Given the description of an element on the screen output the (x, y) to click on. 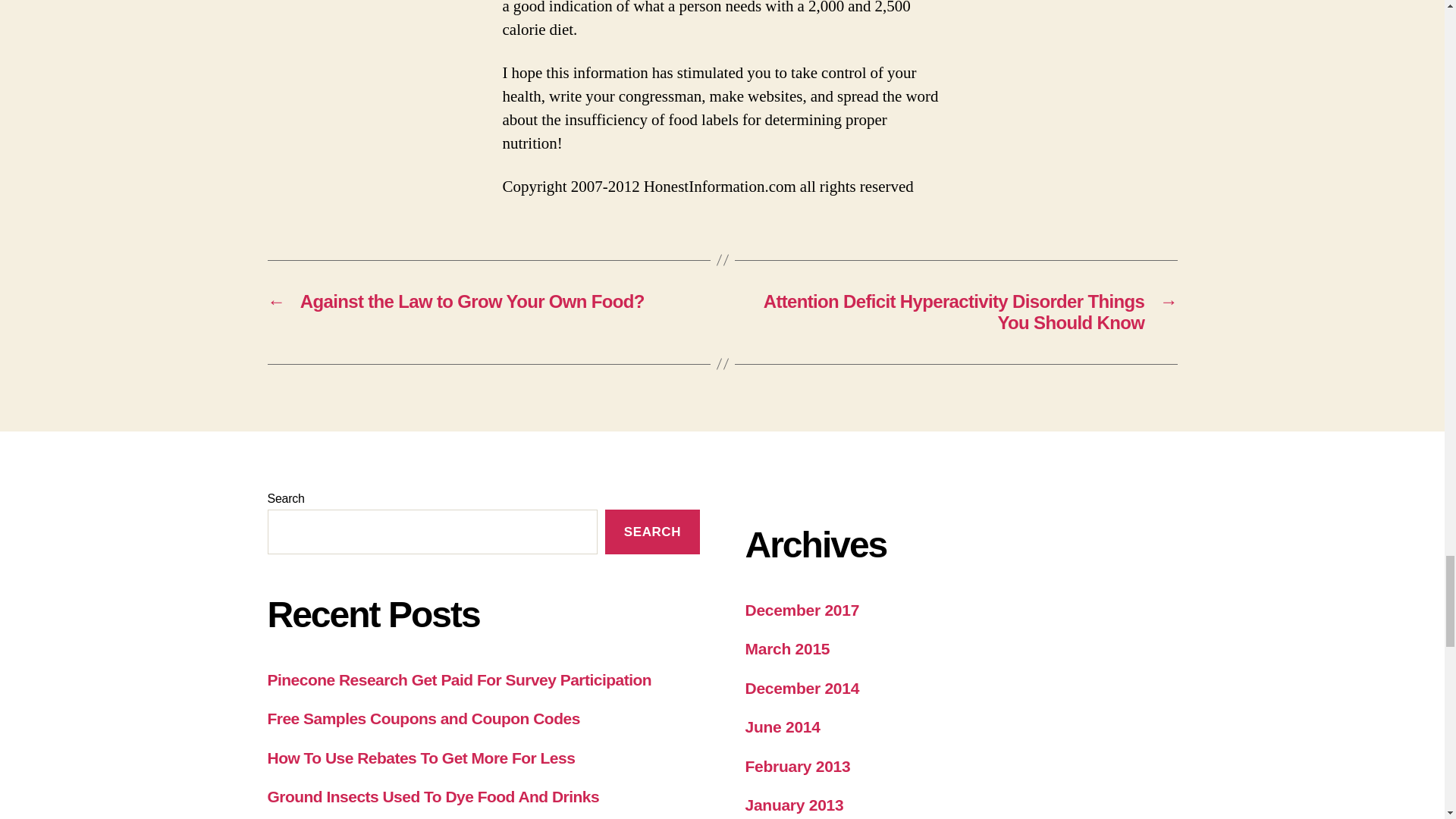
SEARCH (651, 531)
February 2013 (797, 765)
How To Use Rebates To Get More For Less (420, 757)
Ground Insects Used To Dye Food And Drinks (432, 796)
March 2015 (786, 648)
Free Samples Coupons and Coupon Codes (422, 718)
January 2013 (793, 805)
June 2014 (781, 726)
December 2014 (801, 687)
December 2017 (801, 610)
Pinecone Research Get Paid For Survey Participation (458, 679)
